Given the description of an element on the screen output the (x, y) to click on. 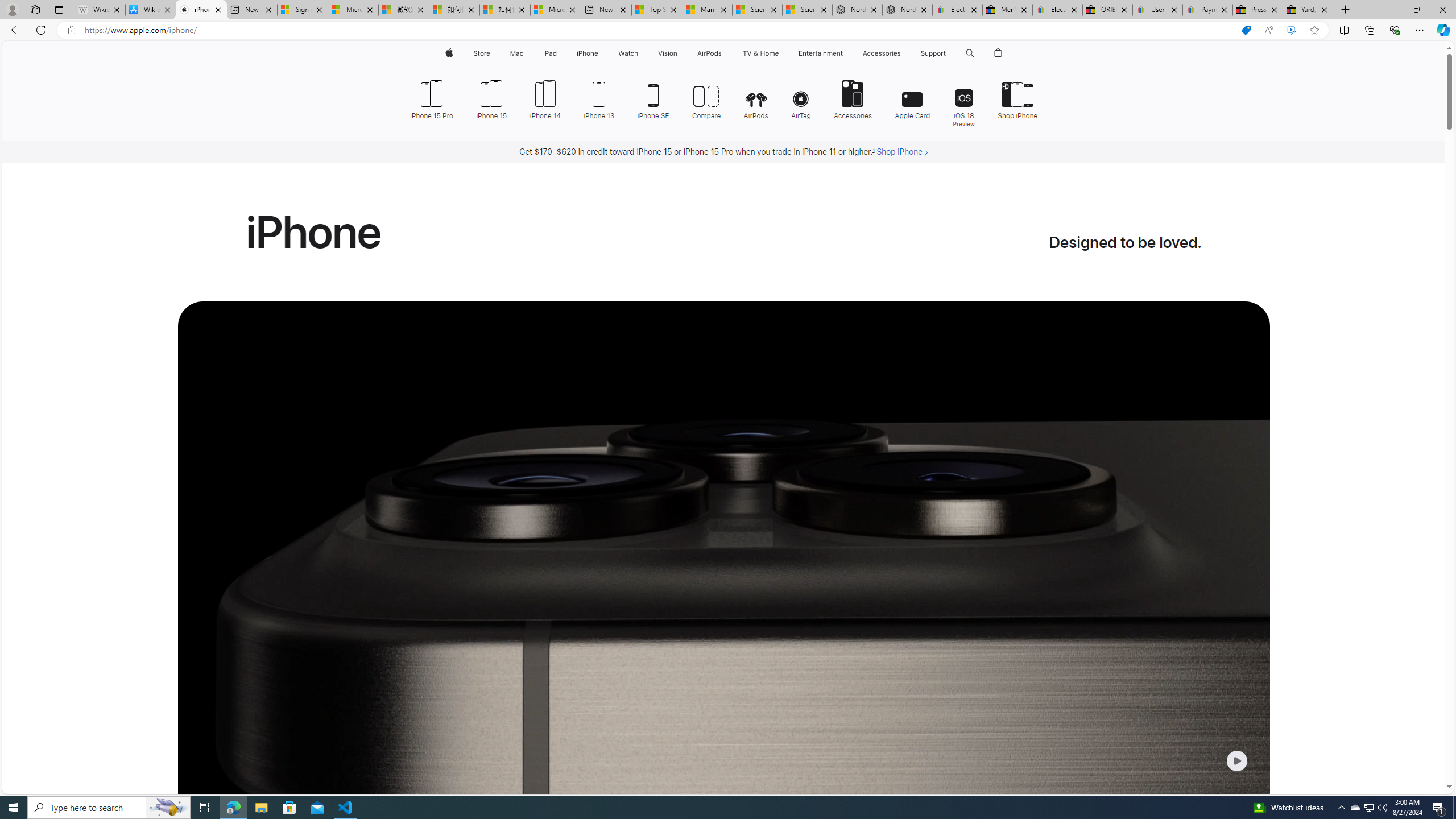
iPad menu (557, 53)
Accessories menu (903, 53)
Enhance video (1291, 29)
Microsoft account | Account Checkup (555, 9)
iPhone - Apple (201, 9)
AirTag (801, 98)
iPhone 15 (491, 98)
iPad (550, 53)
Mac menu (524, 53)
